Given the description of an element on the screen output the (x, y) to click on. 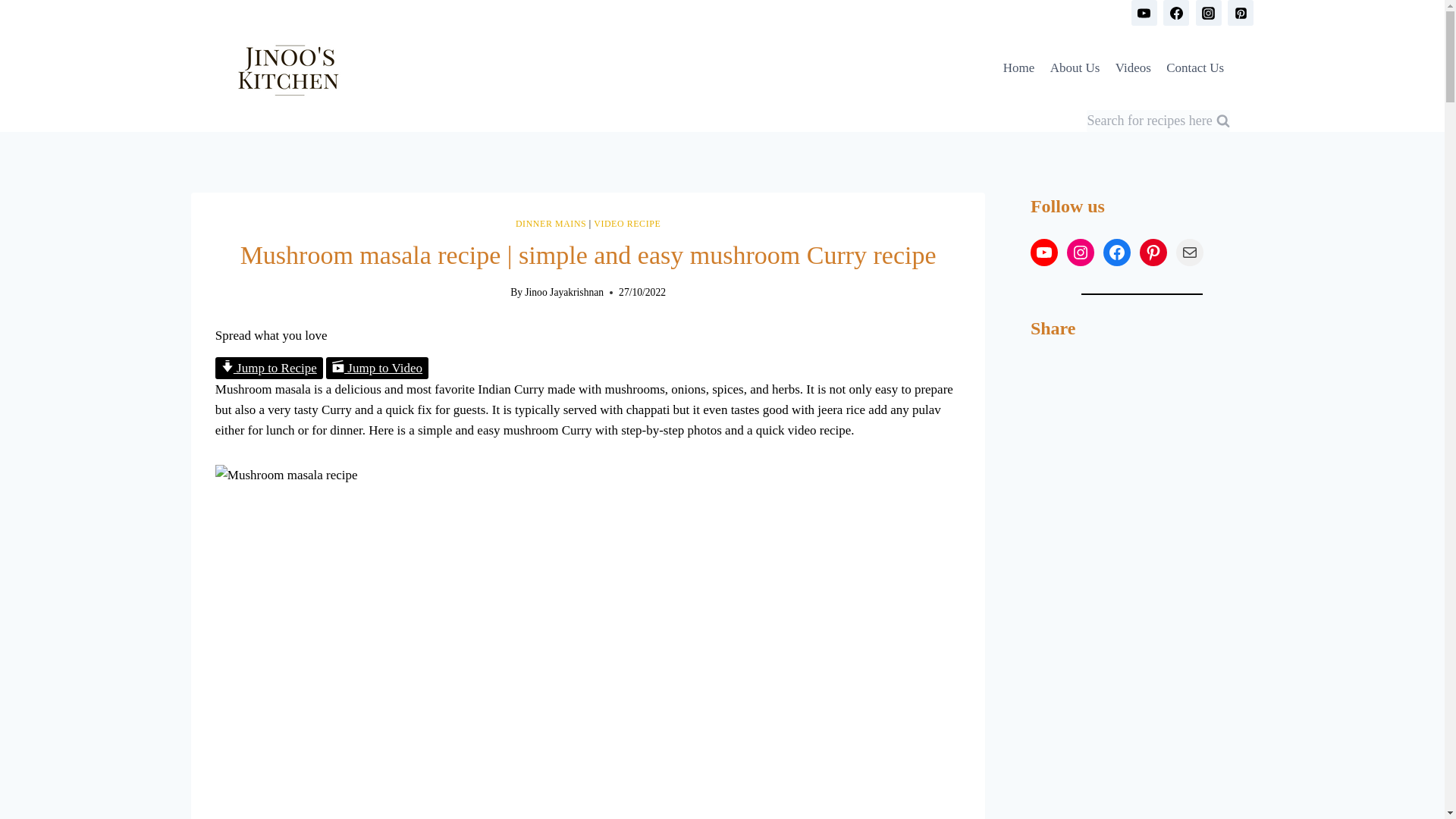
About Us (1074, 67)
Videos (1132, 67)
DINNER MAINS (550, 223)
Home (1018, 67)
Jinoo Jayakrishnan (564, 292)
Contact Us (1194, 67)
Jump to Video (377, 368)
Search for recipes here (1158, 120)
Jump to Recipe (269, 368)
VIDEO RECIPE (627, 223)
